Given the description of an element on the screen output the (x, y) to click on. 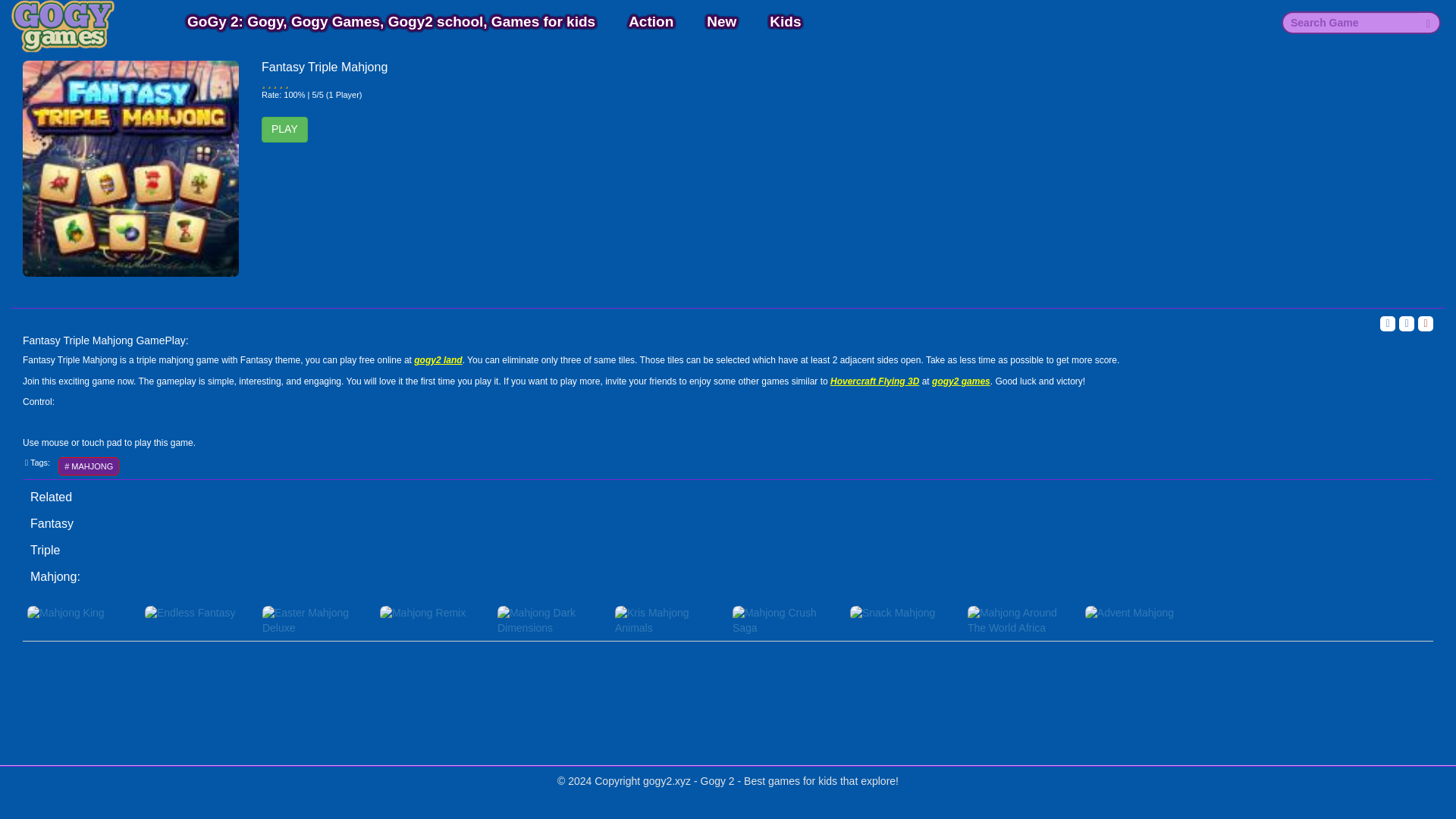
Endless Fantasy (198, 613)
Kris Mahjong Animals (669, 620)
Advent Mahjong (1139, 613)
gogy2 land (437, 359)
Easter Mahjong Deluxe (316, 620)
Mahjong King (81, 613)
GoGy 2: Gogy, Gogy Games, Gogy2 school, Games for kids  (391, 22)
New (721, 22)
GoGy 2: Gogy, Gogy Games, Gogy2 school, Games for kids (391, 22)
gogy2 games (960, 380)
Kids (785, 22)
PLAY (284, 129)
Snack Mahjong (903, 613)
Hovercraft Flying 3D (873, 380)
Mahjong Crush Saga (786, 620)
